Given the description of an element on the screen output the (x, y) to click on. 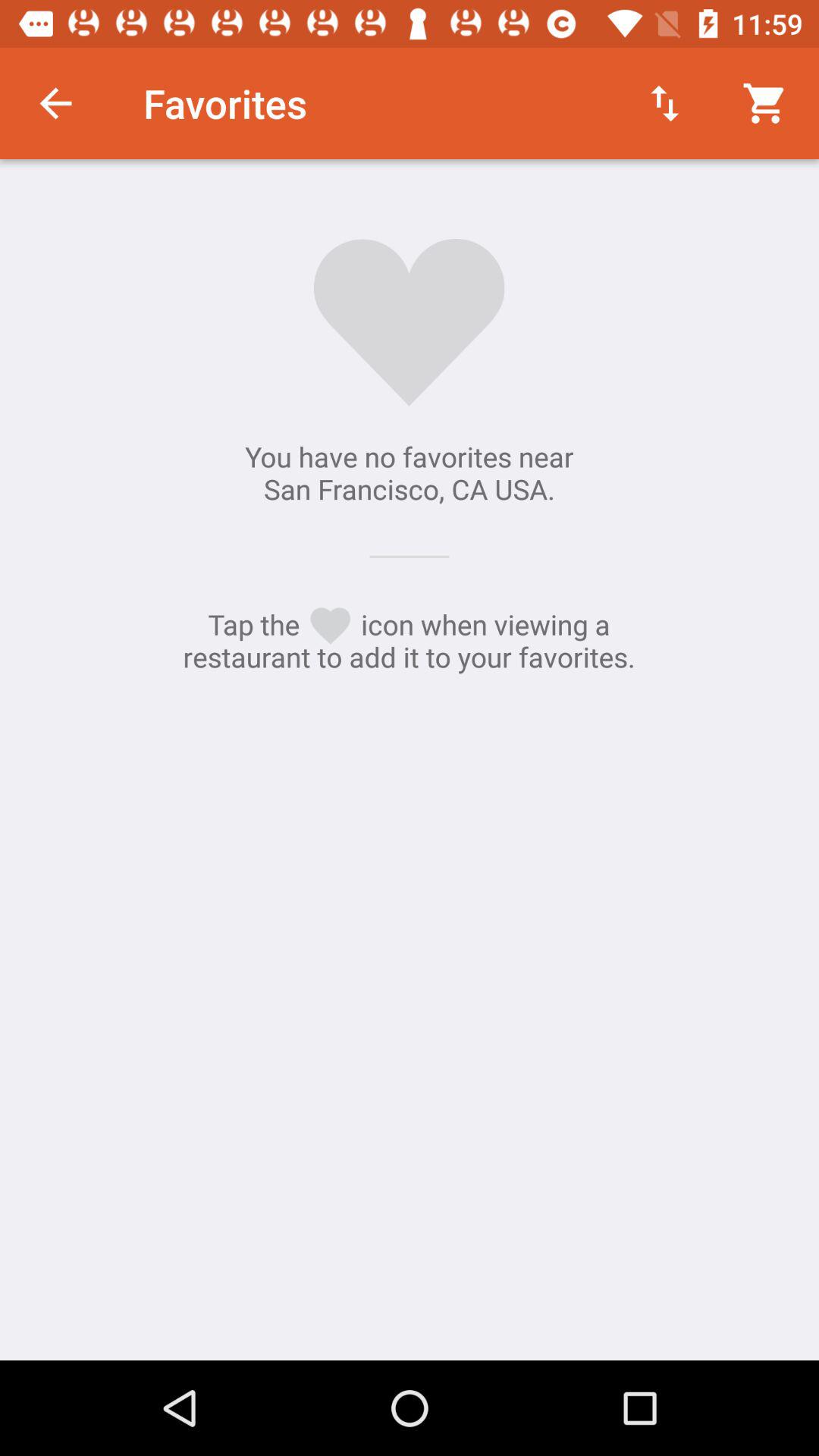
choose the item next to favorites item (664, 103)
